Given the description of an element on the screen output the (x, y) to click on. 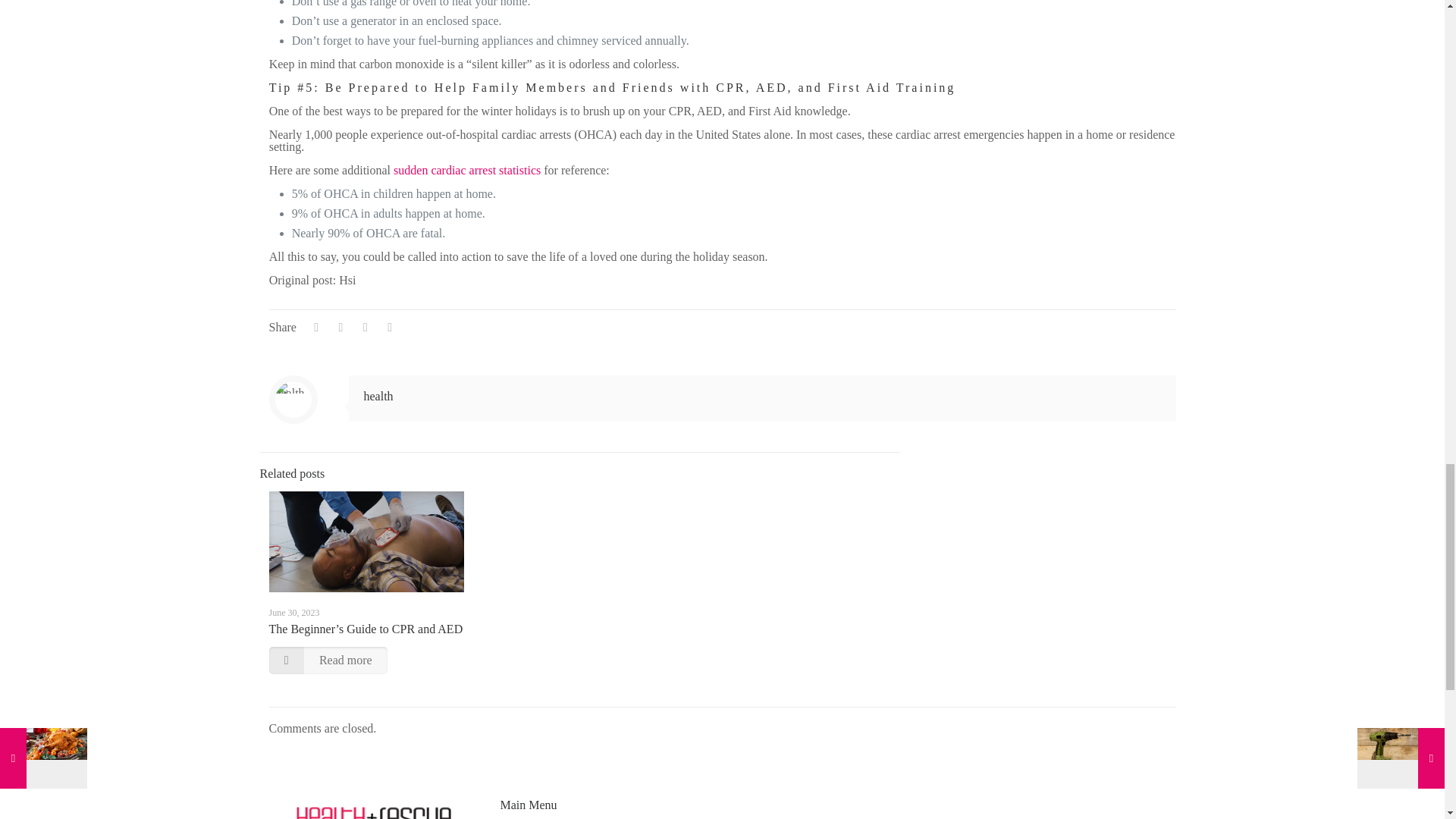
Read more (327, 660)
health (378, 395)
sudden cardiac arrest statistics (466, 169)
